Given the description of an element on the screen output the (x, y) to click on. 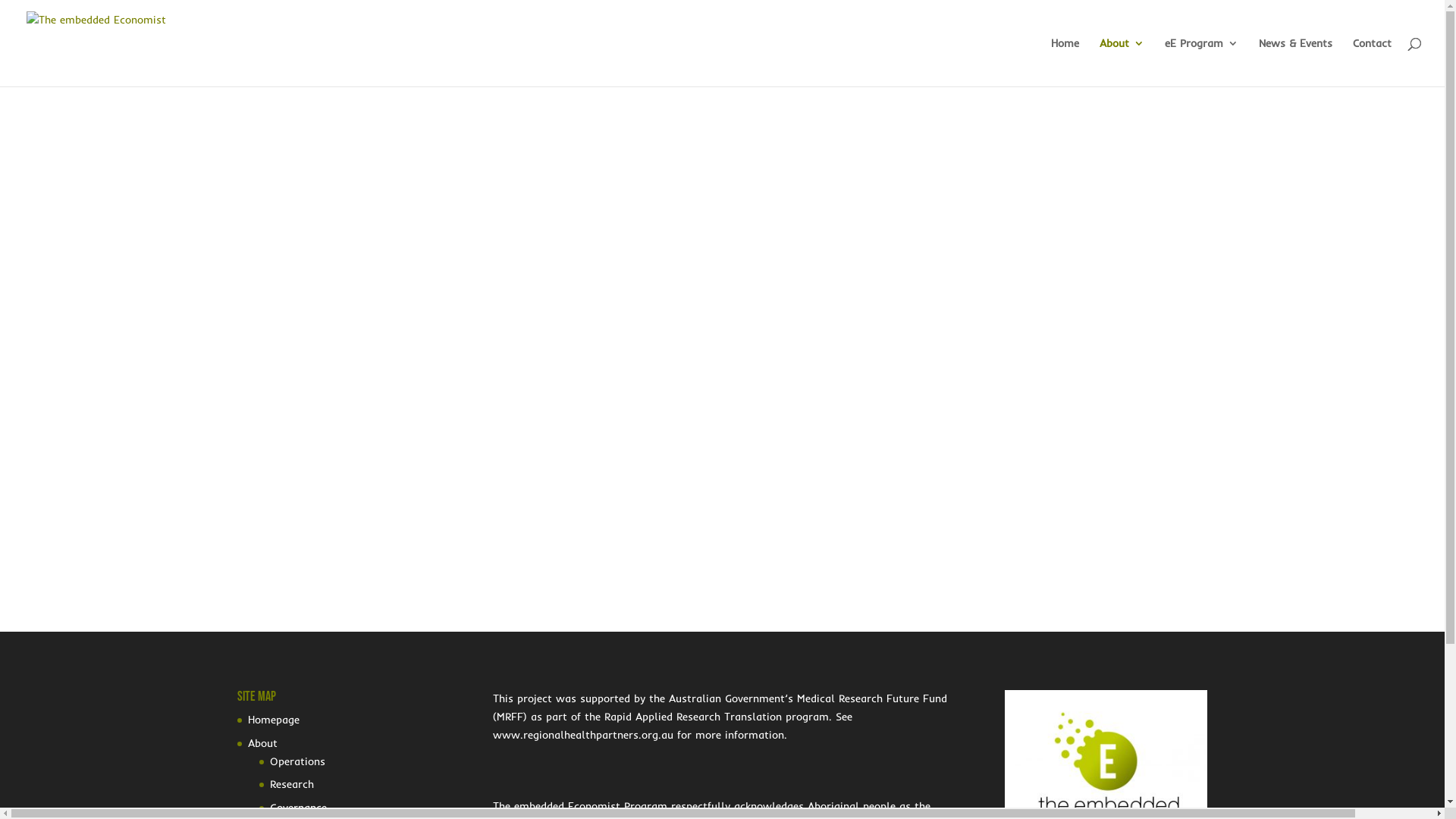
www.regionalhealthpartners.org.au Element type: text (582, 734)
eE Program Element type: text (1201, 61)
About Element type: text (1121, 61)
Homepage Element type: text (272, 719)
Governance Element type: text (297, 807)
About Element type: text (261, 742)
Research Element type: text (291, 783)
Operations Element type: text (297, 761)
Contact Element type: text (1371, 61)
Home Element type: text (1065, 61)
News & Events Element type: text (1295, 61)
